Given the description of an element on the screen output the (x, y) to click on. 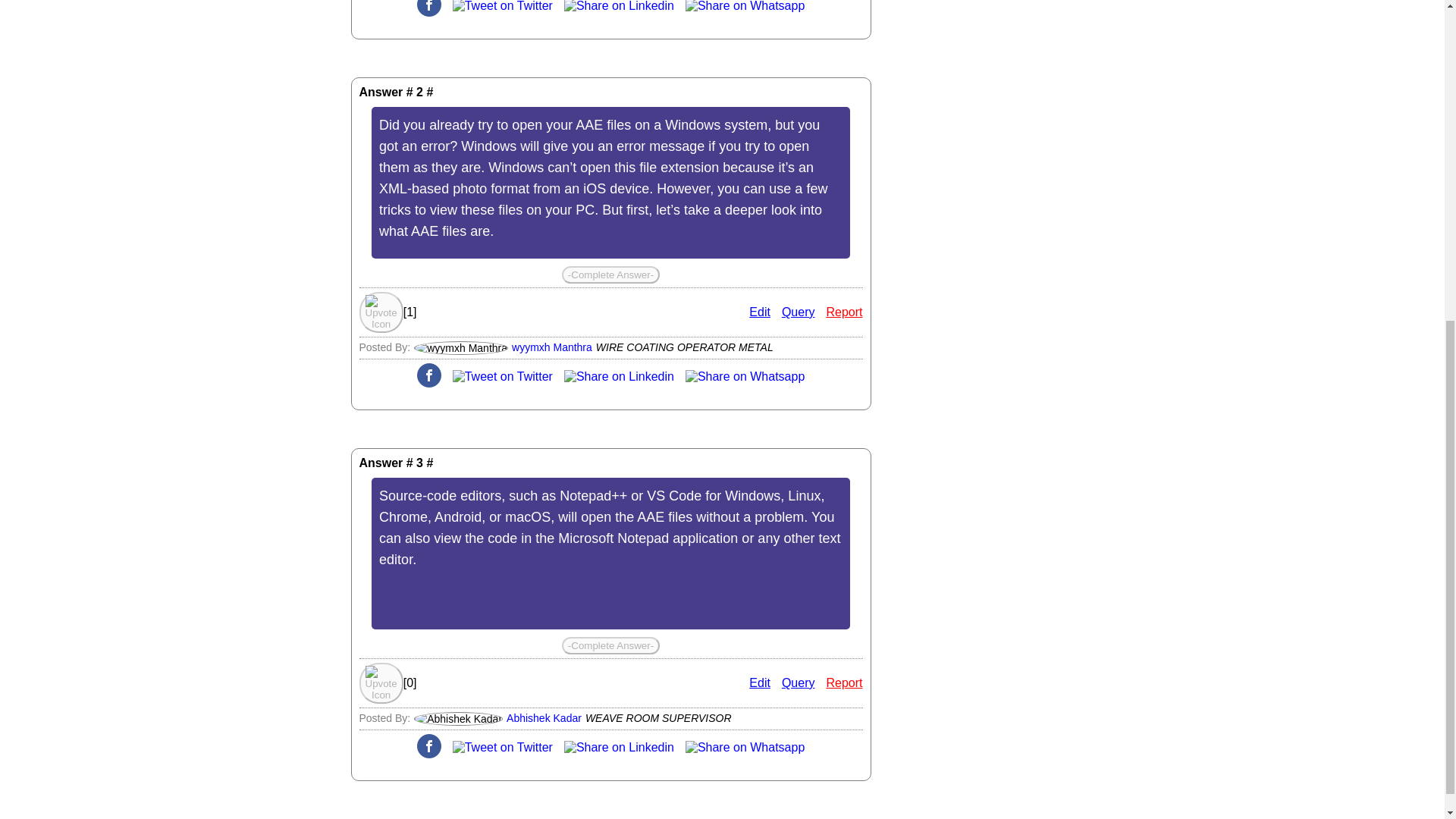
-Complete Answer- (610, 645)
Abhishek Kadar (543, 717)
-Complete Answer- (610, 274)
wyymxh Manthra (552, 346)
